Given the description of an element on the screen output the (x, y) to click on. 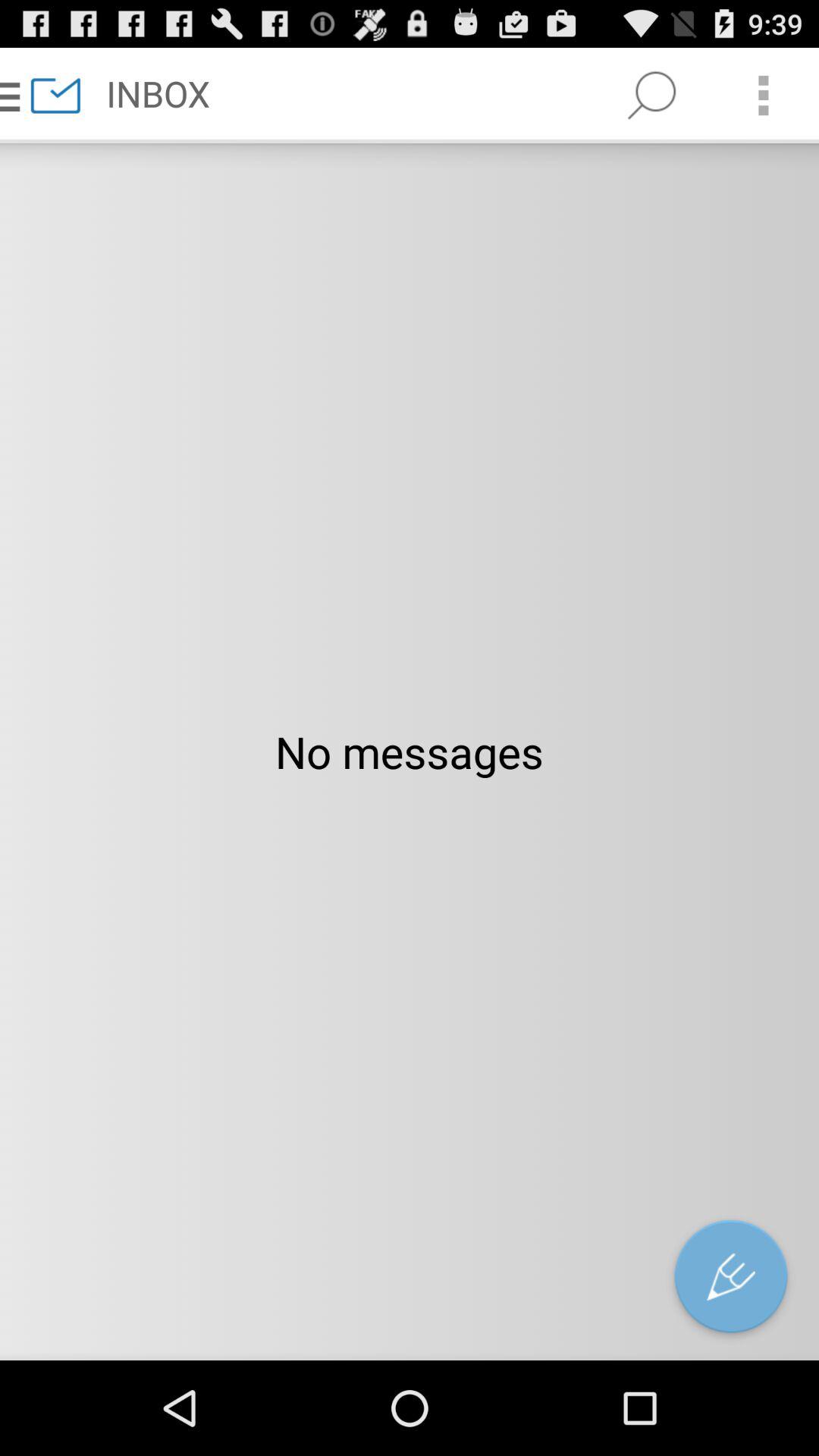
select the app to the right of inbox icon (651, 95)
